Given the description of an element on the screen output the (x, y) to click on. 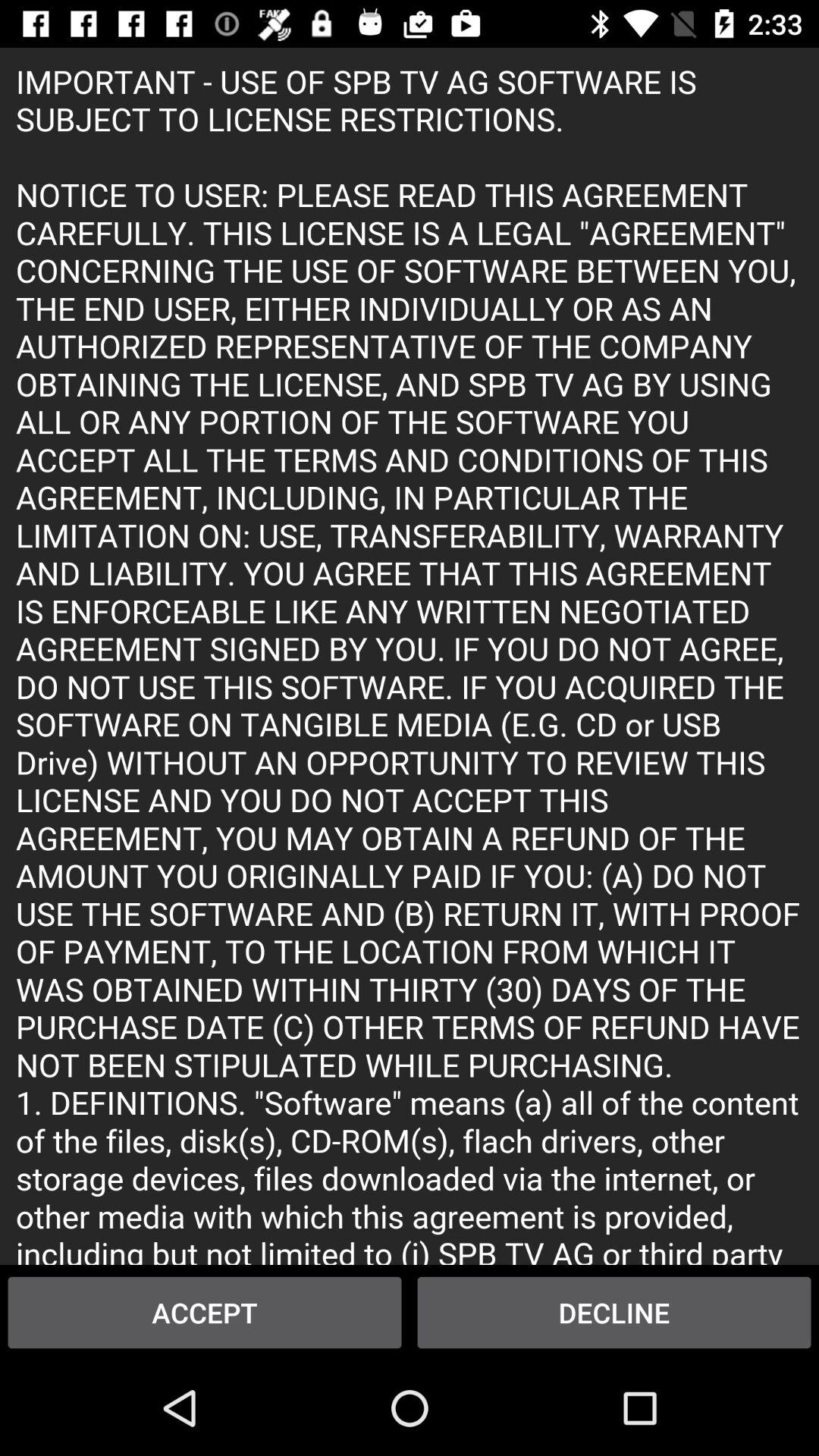
scroll until accept item (204, 1312)
